Given the description of an element on the screen output the (x, y) to click on. 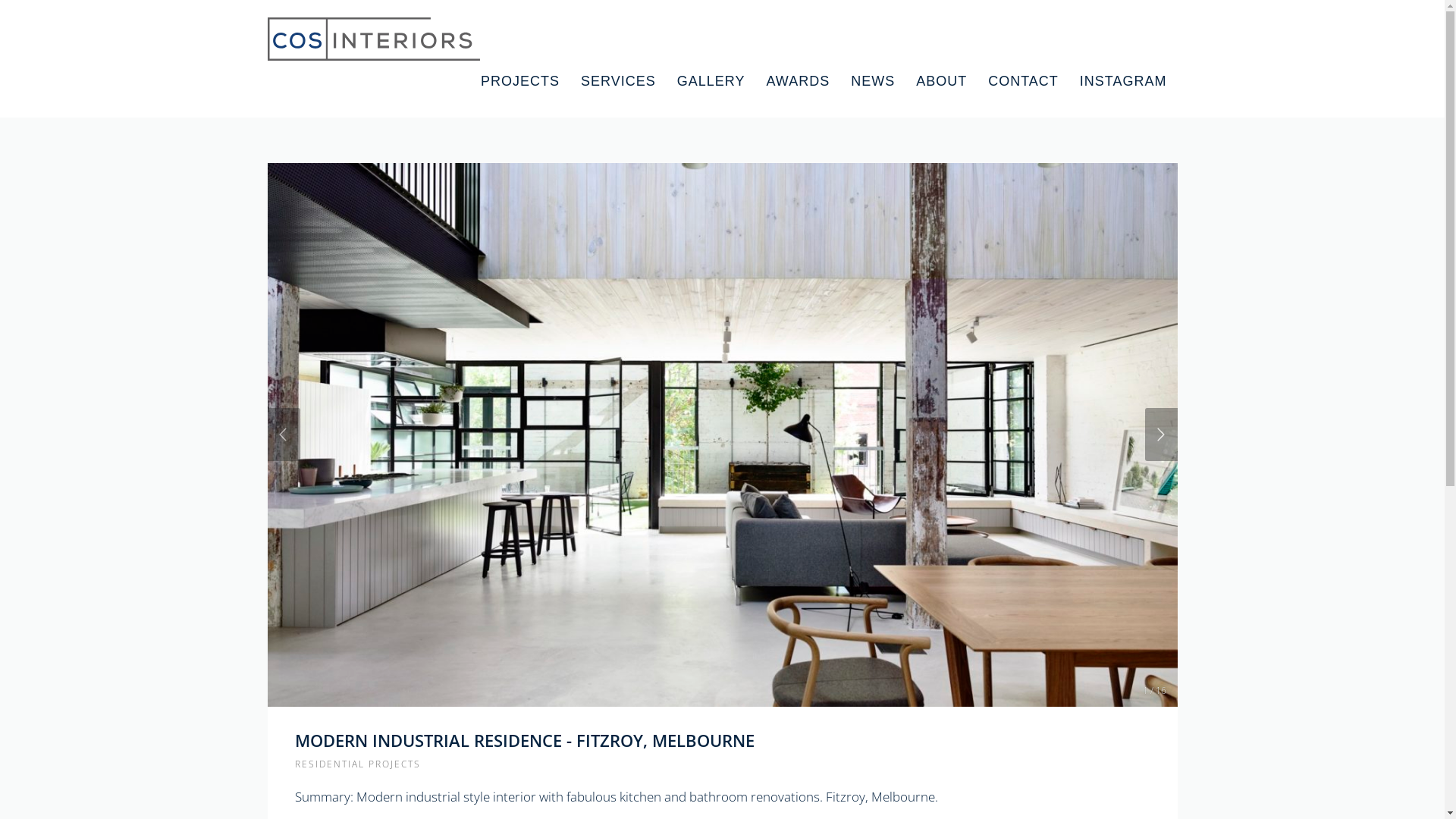
PROJECTS Element type: text (520, 81)
INSTAGRAM Element type: text (1123, 81)
GALLERY Element type: text (711, 81)
NEWS Element type: text (872, 81)
SERVICES Element type: text (618, 81)
AWARDS Element type: text (797, 81)
ABOUT Element type: text (941, 81)
CONTACT Element type: text (1023, 81)
